Given the description of an element on the screen output the (x, y) to click on. 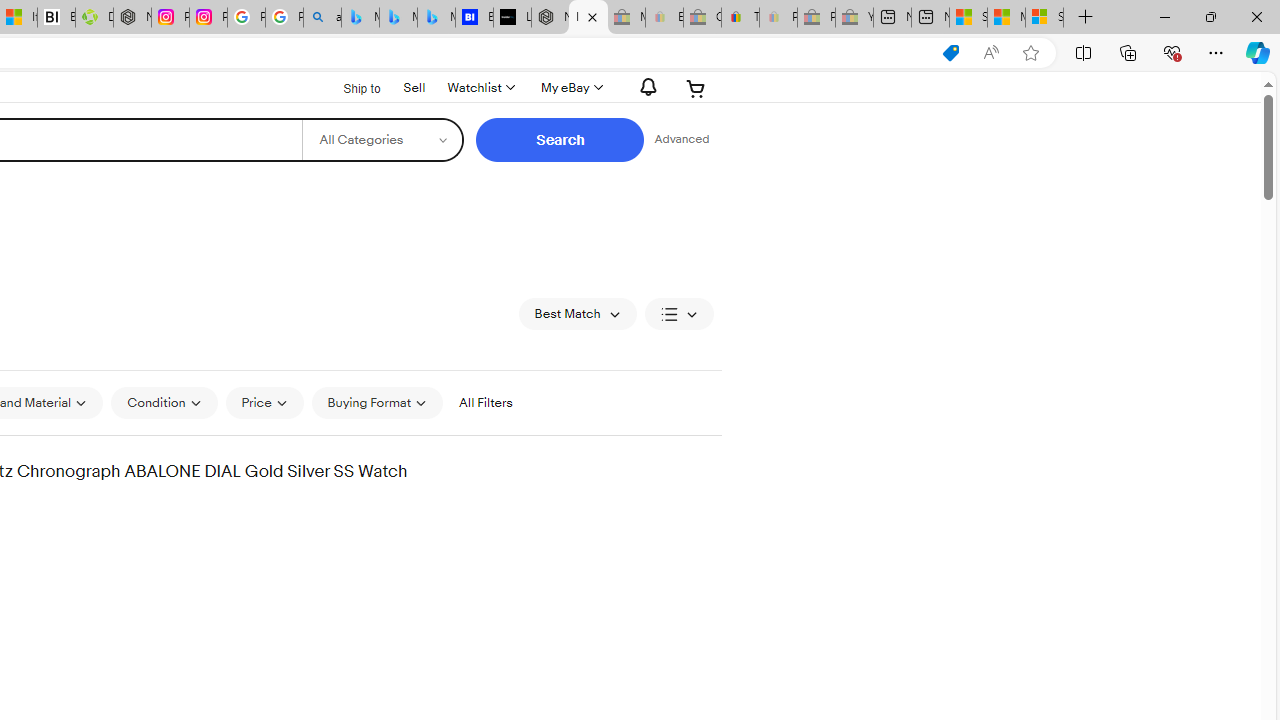
My eBay (569, 88)
All Filters (485, 403)
View: List View (678, 313)
Condition (164, 403)
WatchlistExpand Watch List (479, 88)
All Filters (485, 402)
AutomationID: gh-eb-Alerts (645, 87)
